Given the description of an element on the screen output the (x, y) to click on. 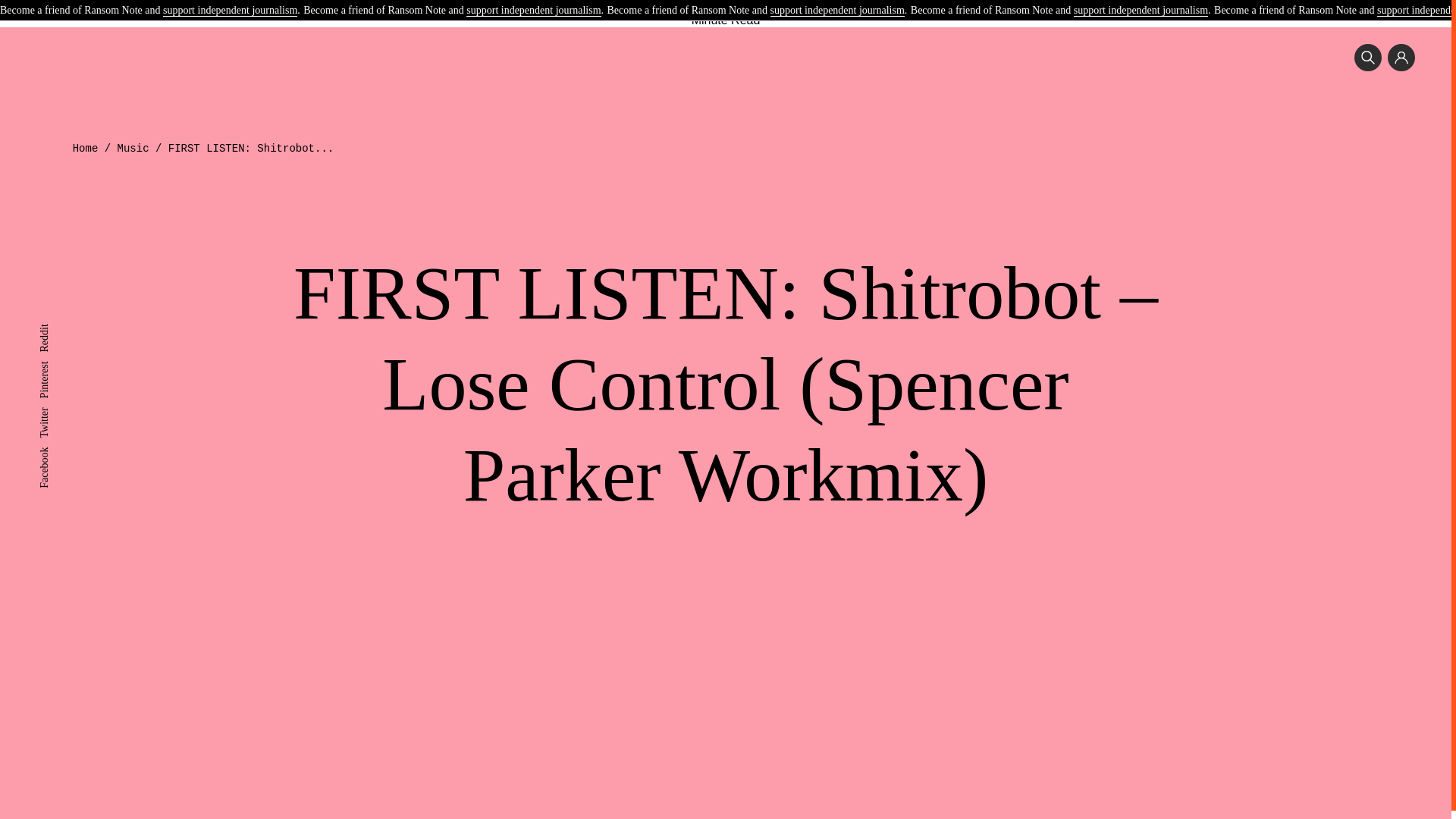
Shop (895, 3)
support independent journalism (230, 10)
Reddit (52, 329)
Music (558, 3)
Commentary (794, 3)
support independent journalism (532, 10)
Home (85, 148)
Facebook (59, 452)
Twitter (53, 413)
Music (133, 148)
support independent journalism (1141, 10)
support independent journalism (837, 10)
Pinterest (57, 367)
